Given the description of an element on the screen output the (x, y) to click on. 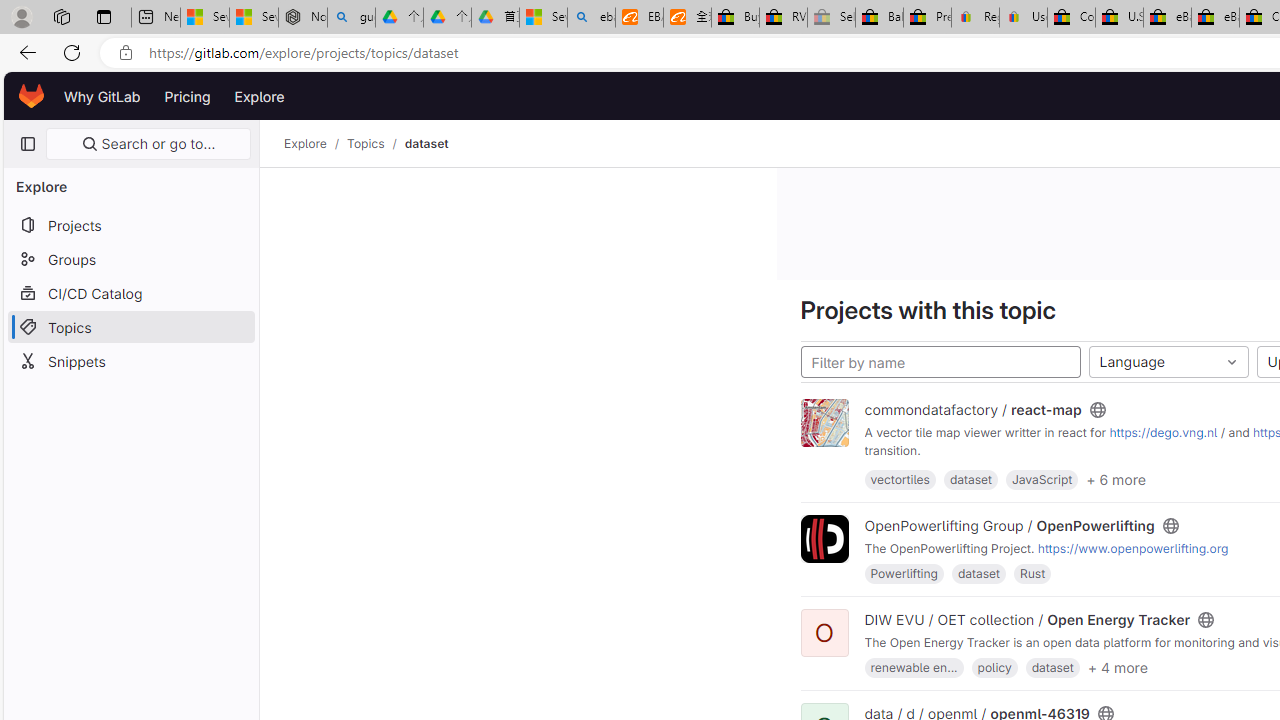
Groups (130, 259)
https://dego.vng.nl (1163, 432)
dataset (426, 143)
Language (1168, 362)
eBay Inc. Reports Third Quarter 2023 Results (1215, 17)
+ 6 more (1115, 478)
Why GitLab (102, 95)
Sell worldwide with eBay - Sleeping (831, 17)
Snippets (130, 360)
OpenPowerlifting Group / OpenPowerlifting (1009, 525)
commondatafactory / react-map (972, 410)
Explore (305, 143)
Homepage (31, 95)
